Given the description of an element on the screen output the (x, y) to click on. 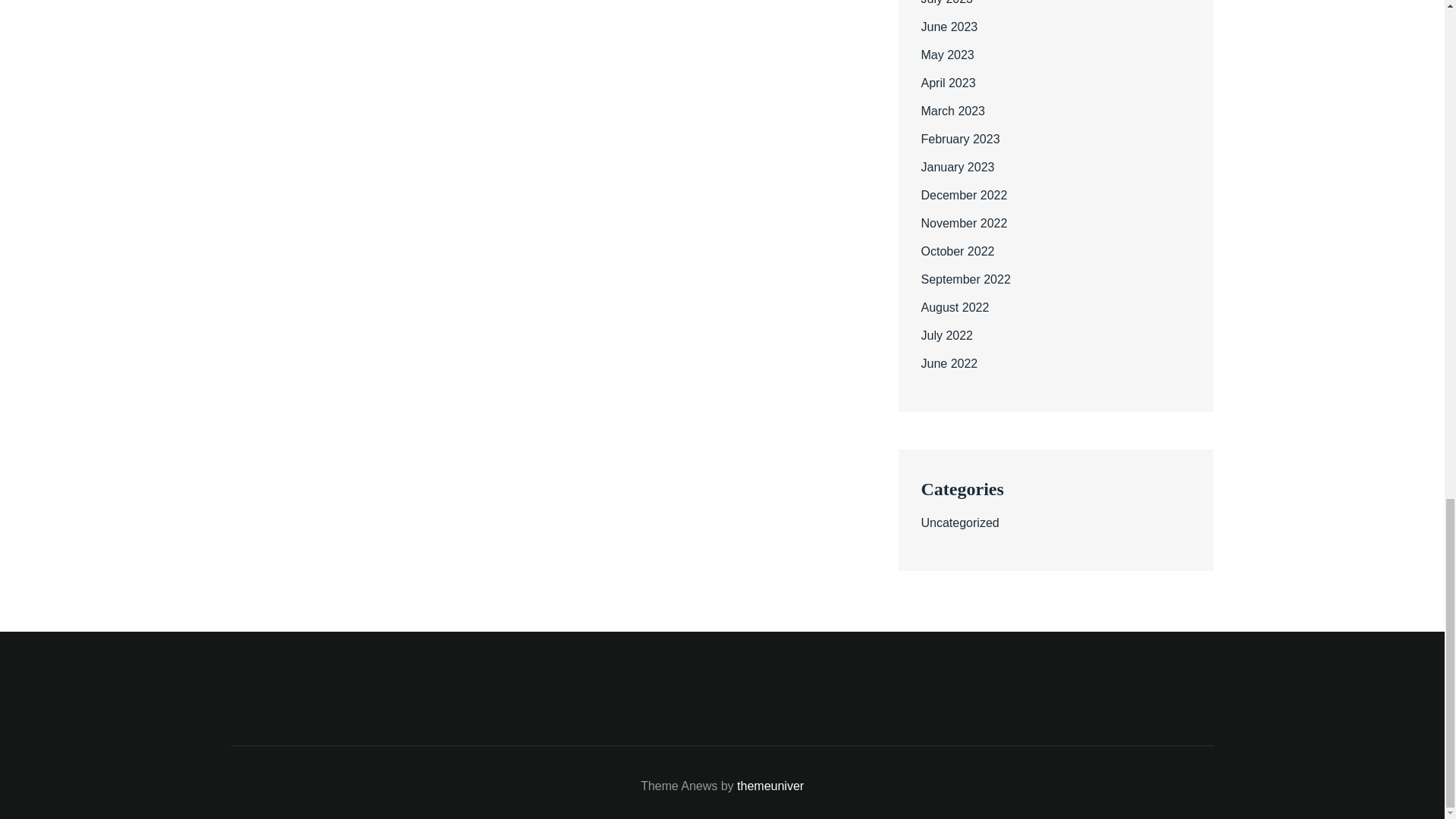
January 2023 (957, 166)
May 2023 (947, 54)
April 2023 (947, 82)
February 2023 (959, 138)
June 2023 (948, 26)
December 2022 (963, 195)
March 2023 (952, 110)
July 2023 (946, 2)
